Given the description of an element on the screen output the (x, y) to click on. 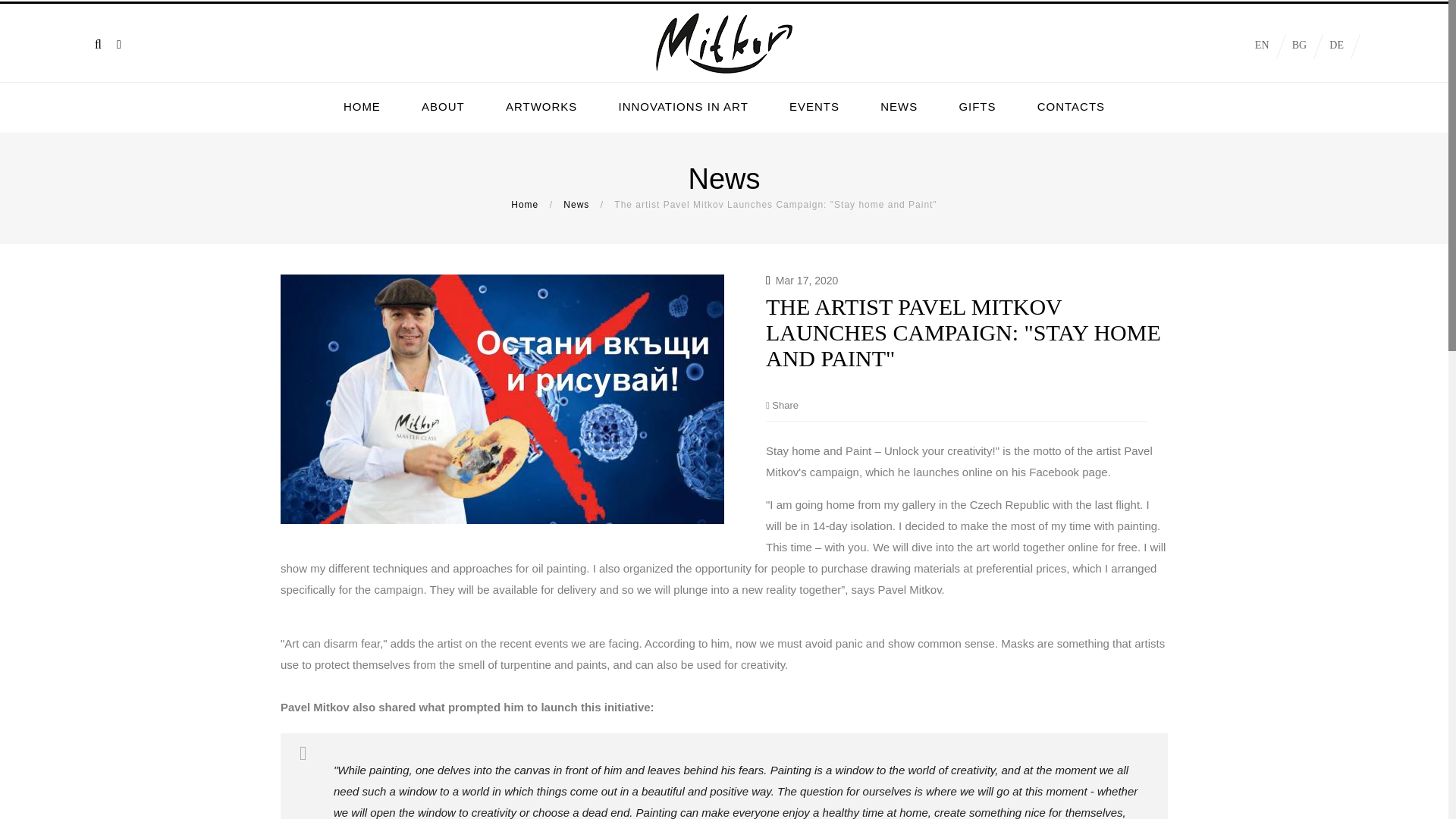
HOME (362, 106)
CONTACTS (1070, 106)
English (1261, 45)
INNOVATIONS IN ART (682, 106)
News (576, 204)
Deuitch (1336, 45)
ABOUT (442, 106)
ARTWORKS (541, 106)
BG (1299, 45)
Home (524, 204)
